Given the description of an element on the screen output the (x, y) to click on. 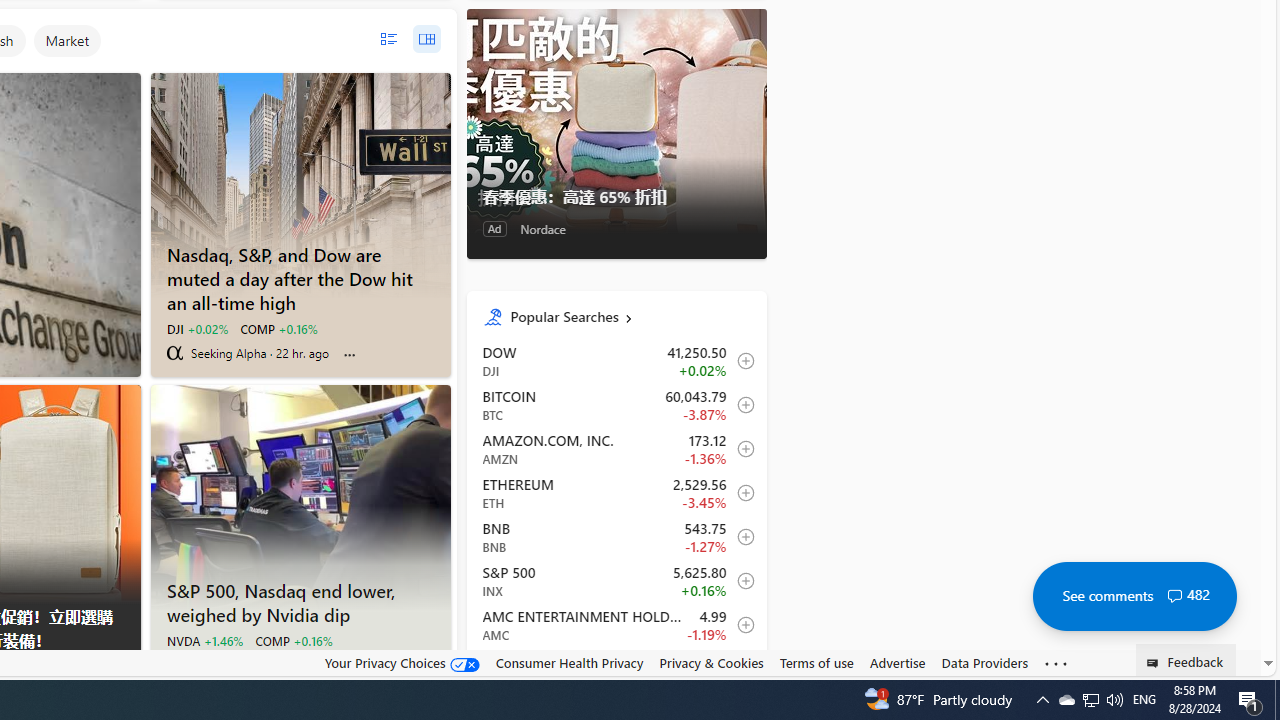
list layout (388, 39)
Class: oneFooter_seeMore-DS-EntryPoint1-1 (1055, 663)
Consumer Health Privacy (569, 663)
Consumer Health Privacy (569, 662)
Advertise (897, 662)
grid layout (426, 39)
S&P 500, Nasdaq end lower, weighed by Nvidia dip - Reuters (300, 600)
DJI +0.02% (196, 328)
Seeking Alpha (174, 352)
ADA Cardano decrease 0.36 -0.00 -1.27% itemundefined (615, 669)
Class: cwt-icon-vector (1174, 596)
COMP +0.16% (292, 640)
